Given the description of an element on the screen output the (x, y) to click on. 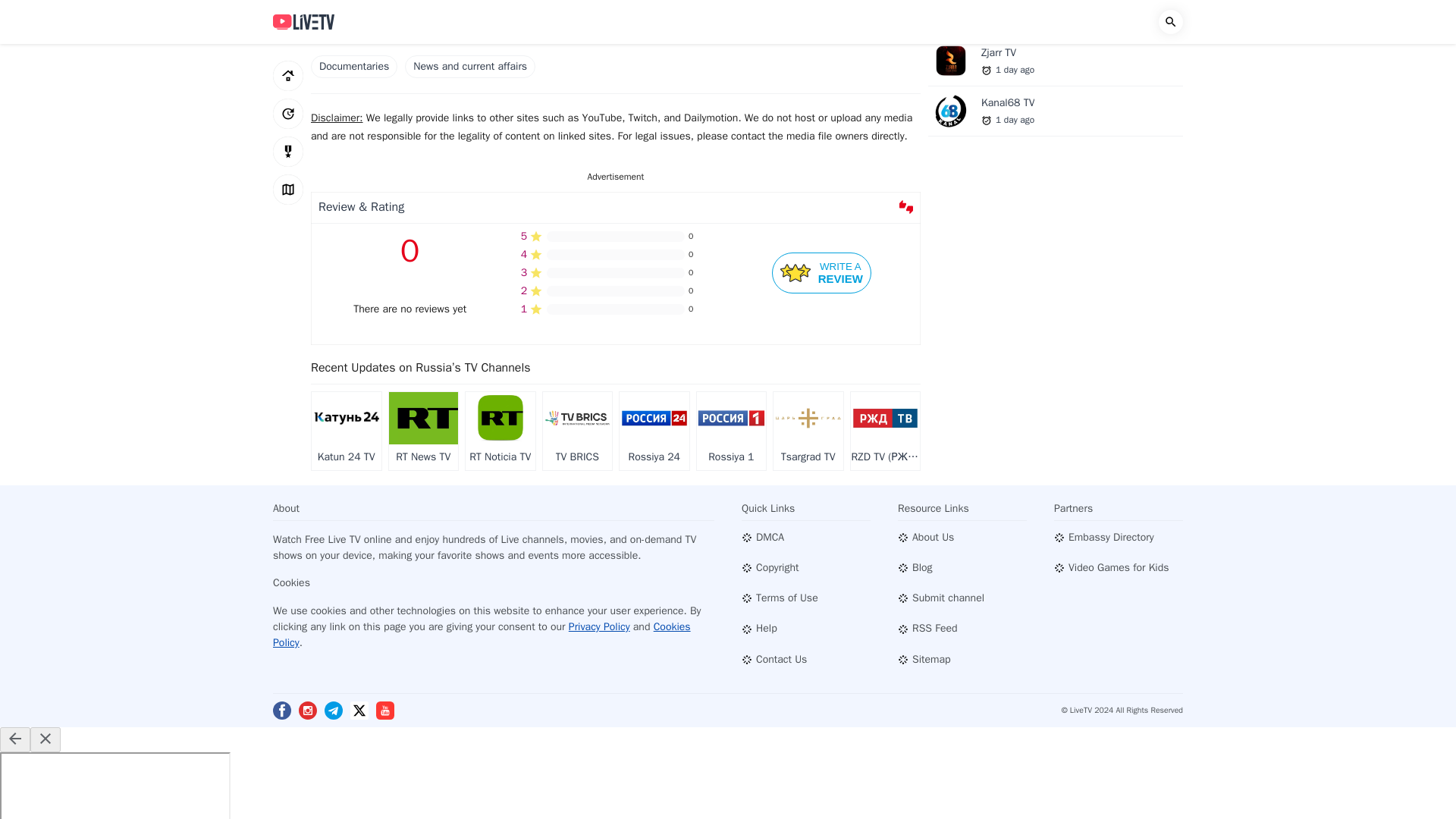
RT Noticia TV (500, 431)
RT News TV (423, 431)
Rossiya 24 (820, 273)
Katun 24 TV (654, 431)
Tsargrad TV (346, 431)
News and current affairs (808, 431)
Rossiya 1 (469, 66)
TV BRICS (730, 431)
